Given the description of an element on the screen output the (x, y) to click on. 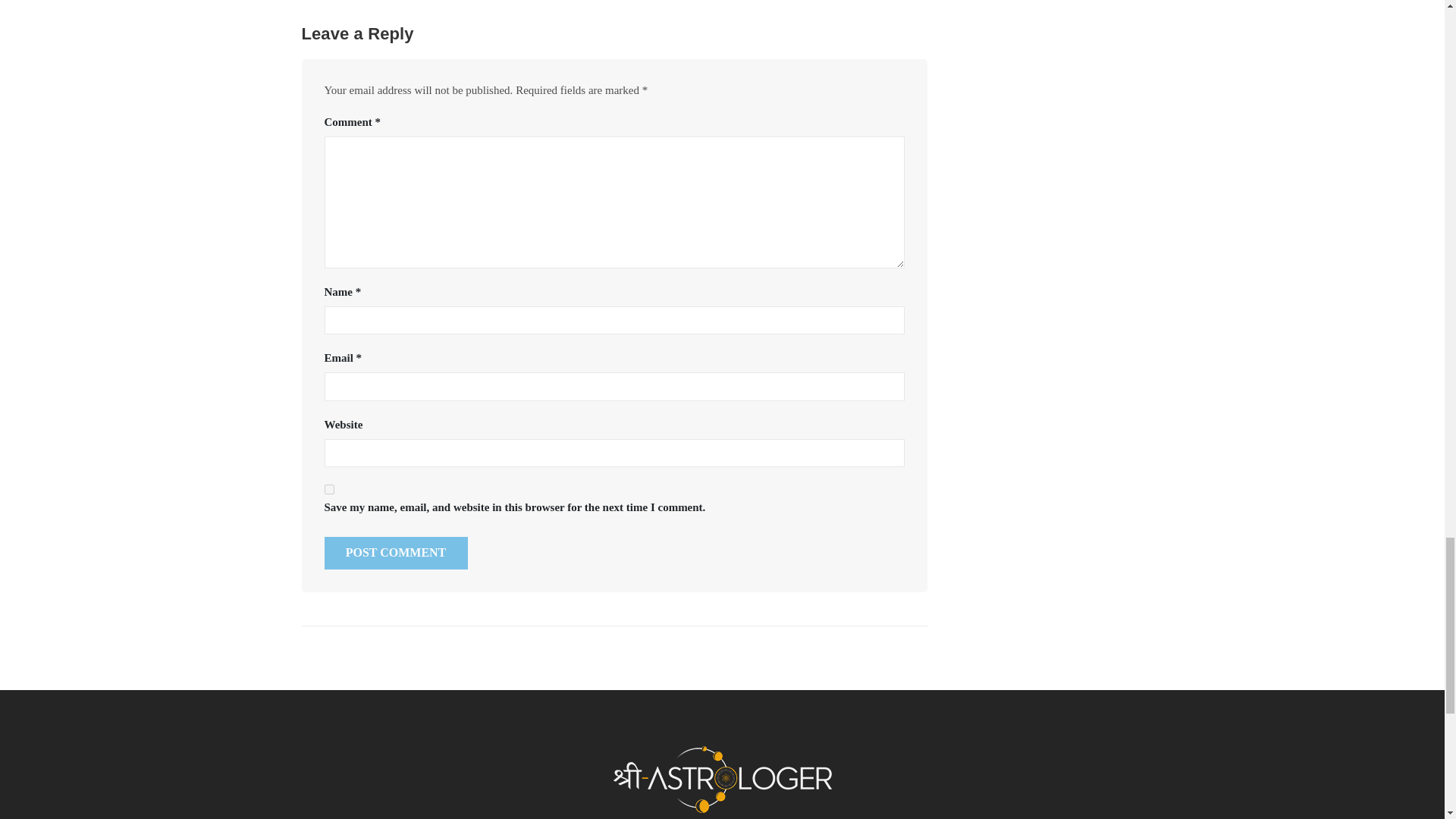
Post Comment (395, 553)
yes (329, 489)
Post Comment (395, 553)
